Given the description of an element on the screen output the (x, y) to click on. 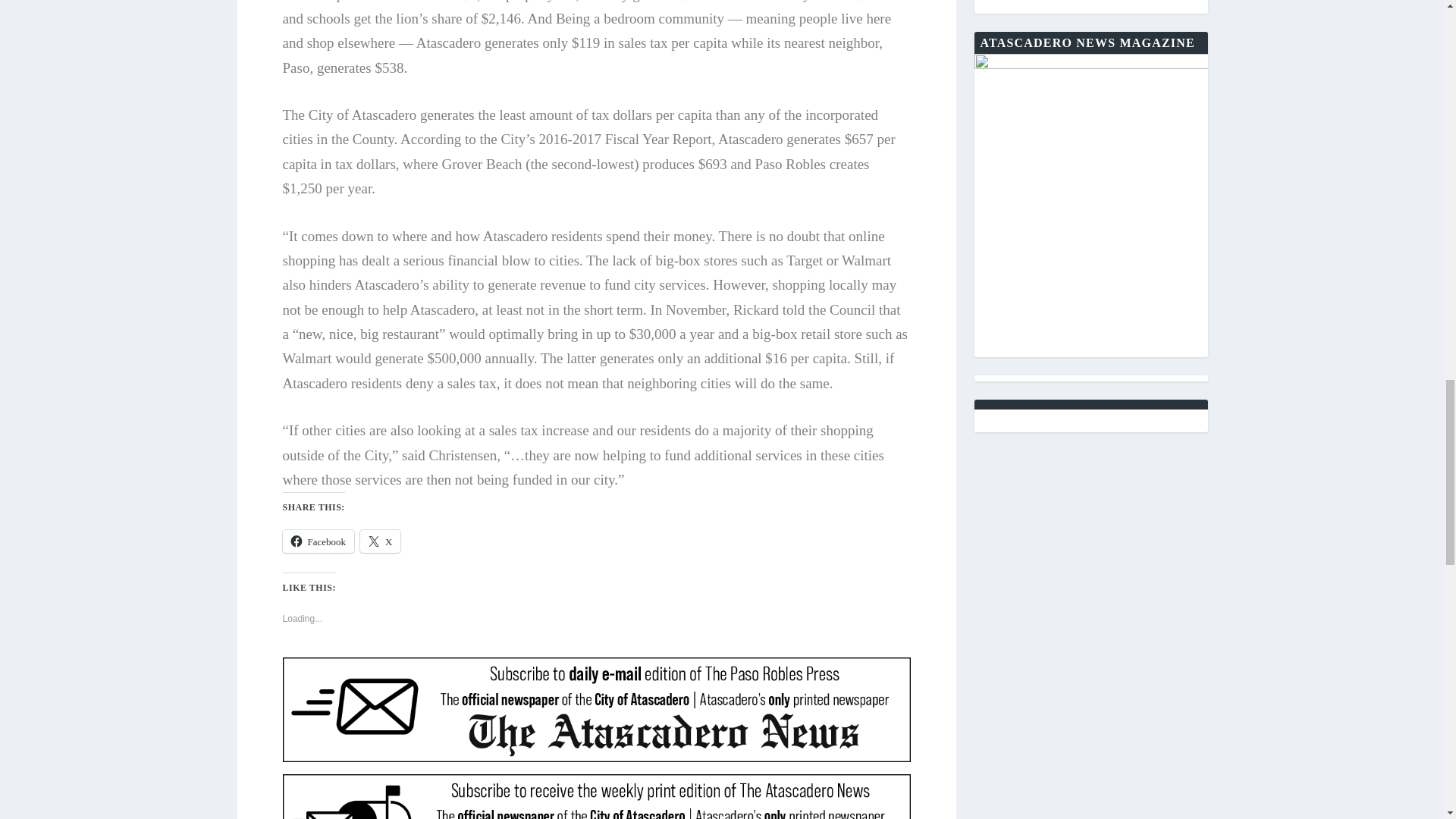
Click to share on Facebook (317, 540)
X (379, 540)
Facebook (317, 540)
Click to share on X (379, 540)
